Given the description of an element on the screen output the (x, y) to click on. 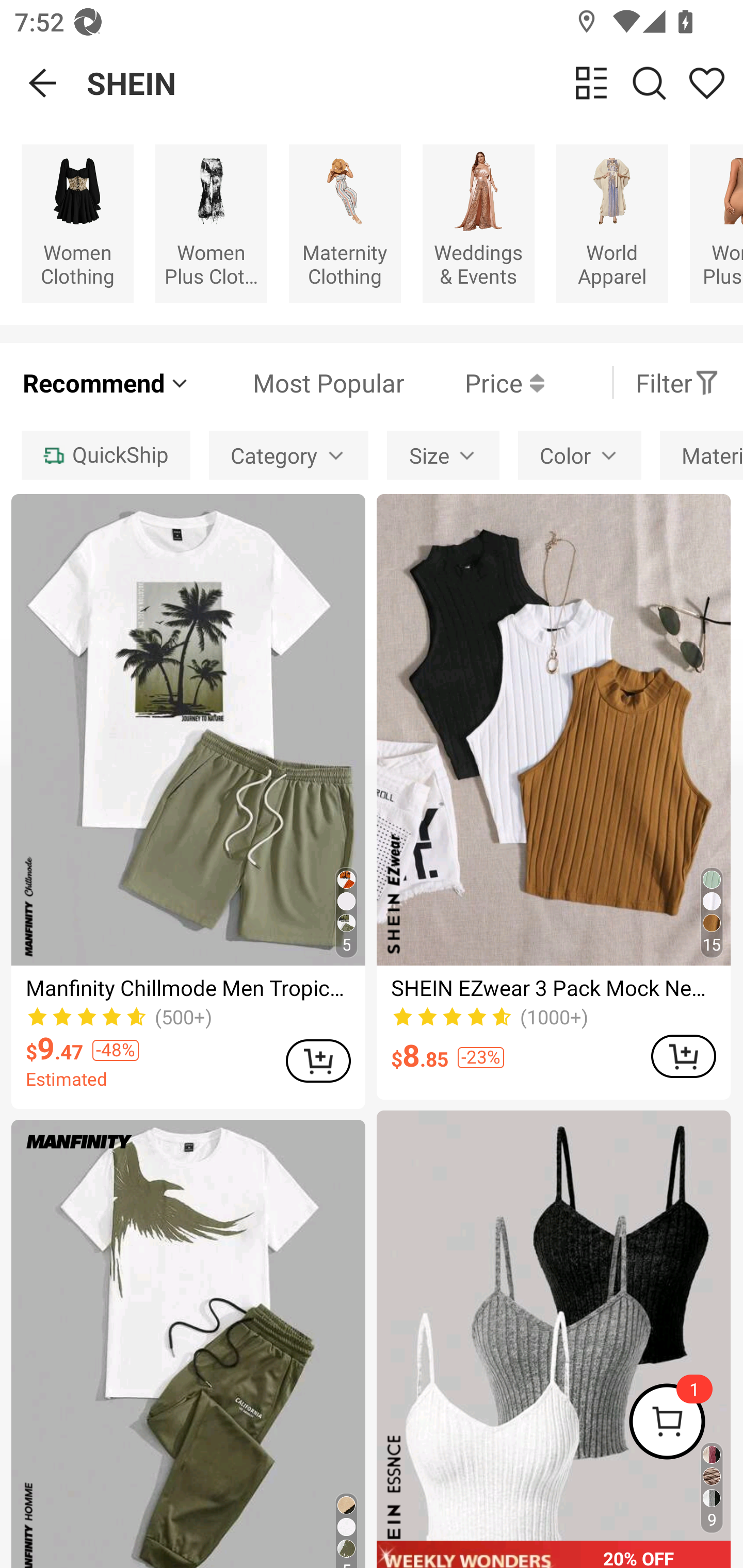
SHEIN change view Search Share (414, 82)
change view (591, 82)
Search (648, 82)
Share (706, 82)
Women Clothing (77, 223)
Women Plus Clothing (211, 223)
Maternity Clothing (345, 223)
Weddings & Events (478, 223)
World Apparel (611, 223)
Recommend (106, 382)
Most Popular (297, 382)
Price (474, 382)
Filter (677, 382)
QuickShip (105, 455)
Category (288, 455)
Size (443, 455)
Color (579, 455)
Material (701, 455)
ADD TO CART (683, 1056)
ADD TO CART (318, 1060)
